Given the description of an element on the screen output the (x, y) to click on. 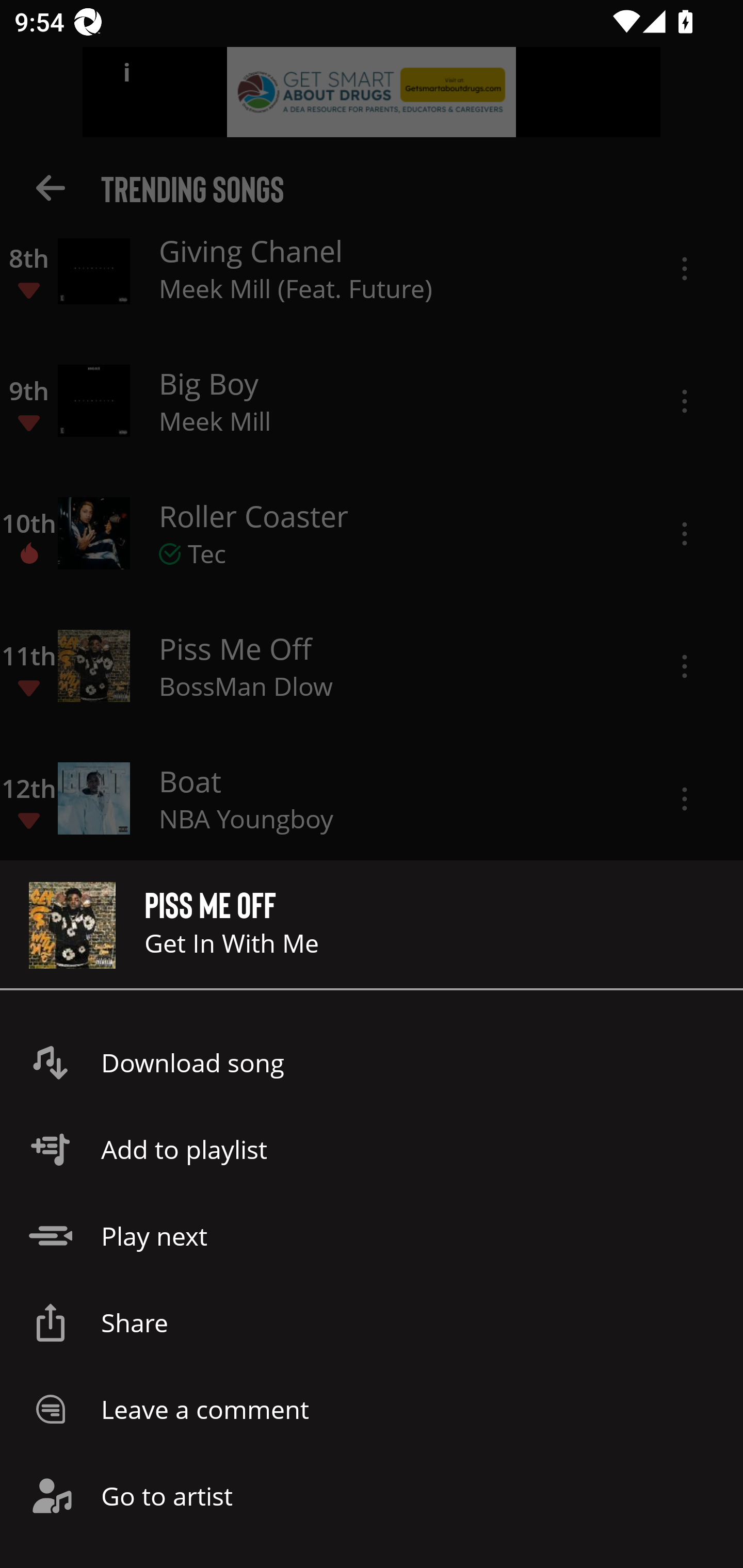
Download song (371, 1062)
Add to playlist (371, 1149)
Play next (371, 1236)
Share (371, 1322)
Leave a comment (371, 1408)
Go to artist (371, 1495)
